Given the description of an element on the screen output the (x, y) to click on. 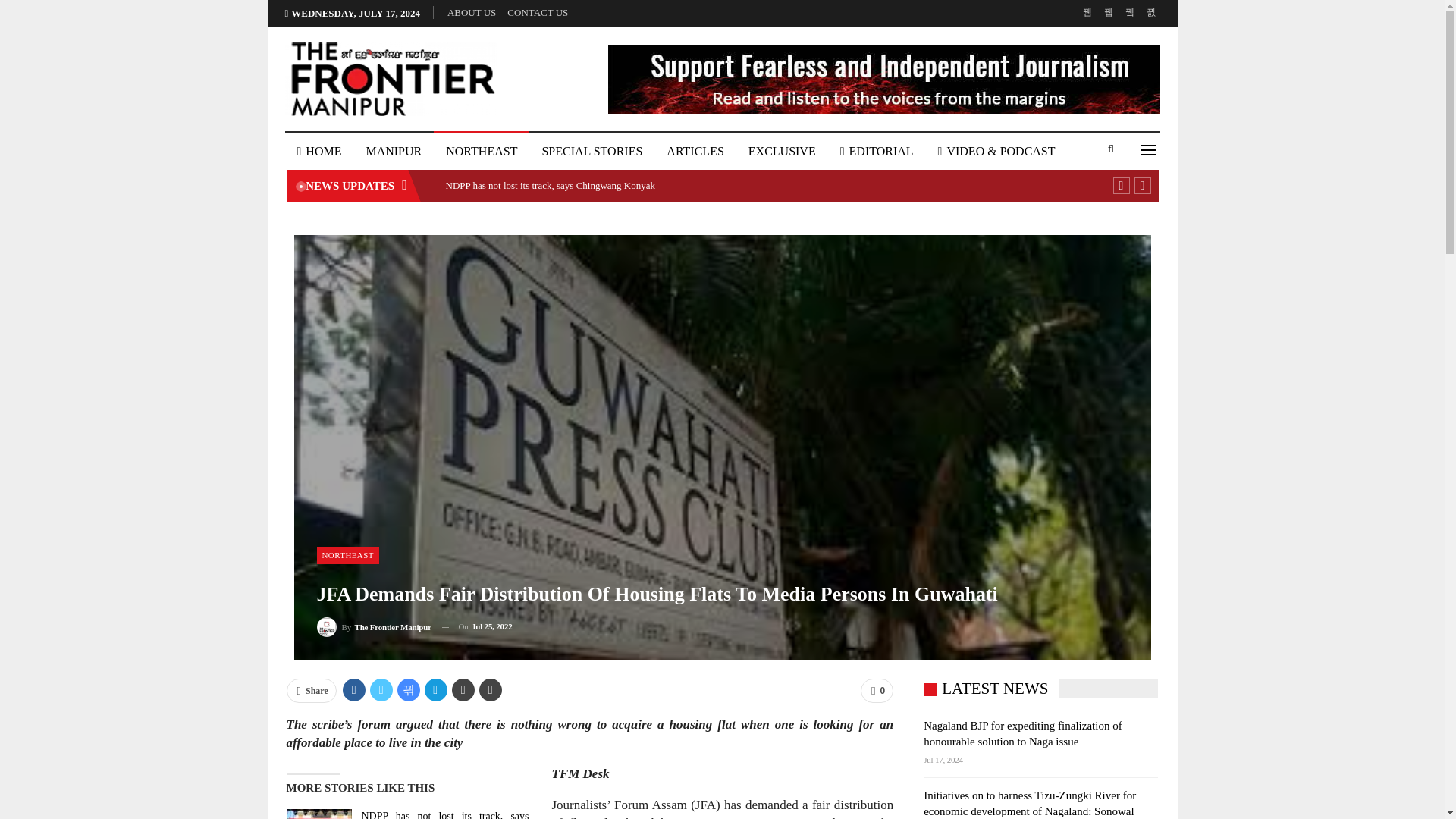
NDPP has not lost its track, says Chingwang Konyak (550, 184)
HOME (319, 151)
ARTICLES (694, 151)
MANIPUR (393, 151)
CONTACT US (536, 12)
NDPP has not lost its track, says Chingwang Konyak (319, 814)
ABOUT US (471, 12)
EXCLUSIVE (782, 151)
NORTHEAST (481, 151)
EDITORIAL (877, 151)
SPECIAL STORIES (591, 151)
Browse Author Articles (373, 626)
